Given the description of an element on the screen output the (x, y) to click on. 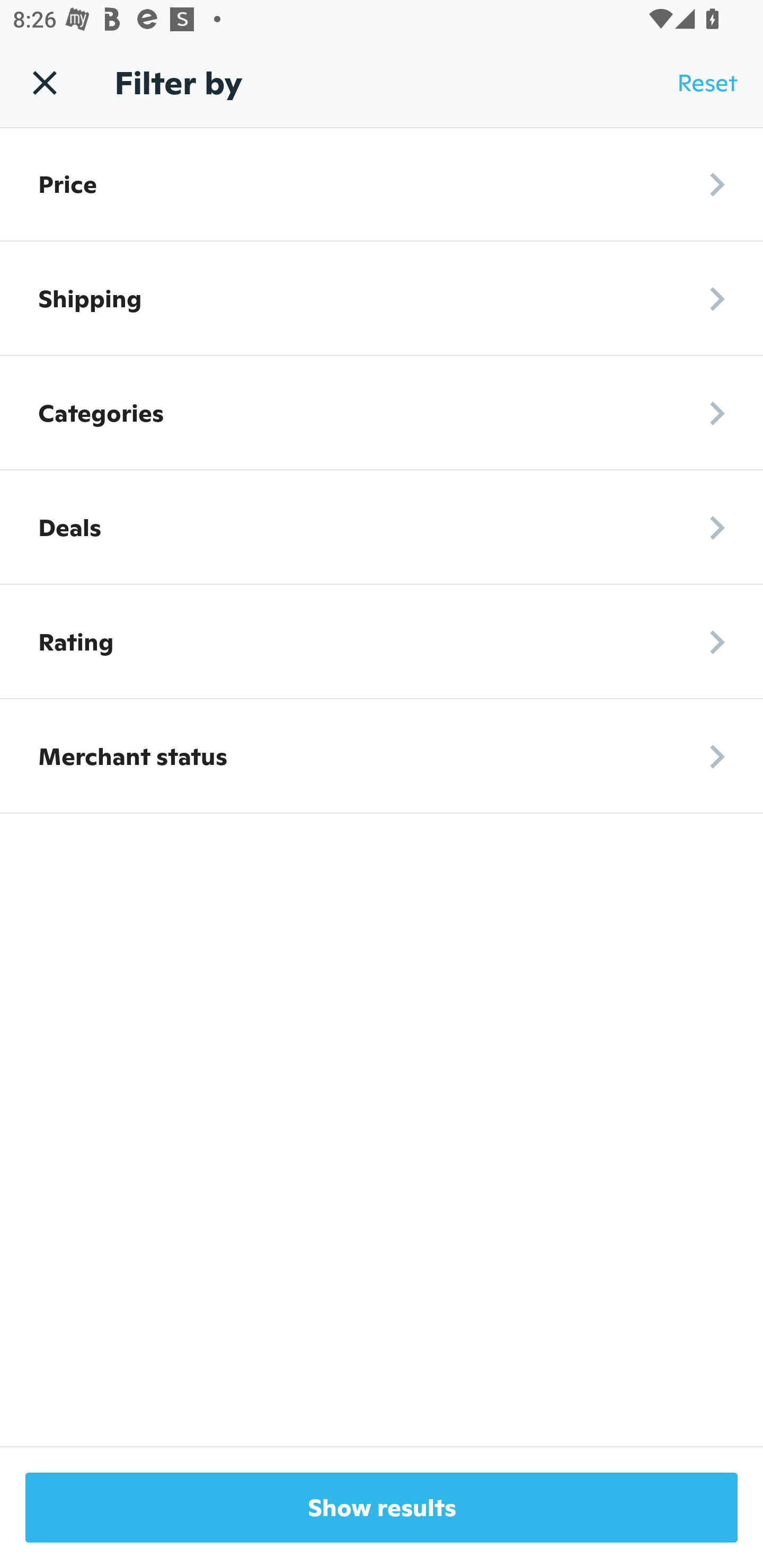
Navigate up (44, 82)
Reset (707, 82)
Price (381, 184)
Shipping (381, 298)
Categories (381, 412)
Deals (381, 527)
Rating (381, 641)
Merchant status (381, 756)
Show results (381, 1507)
